Given the description of an element on the screen output the (x, y) to click on. 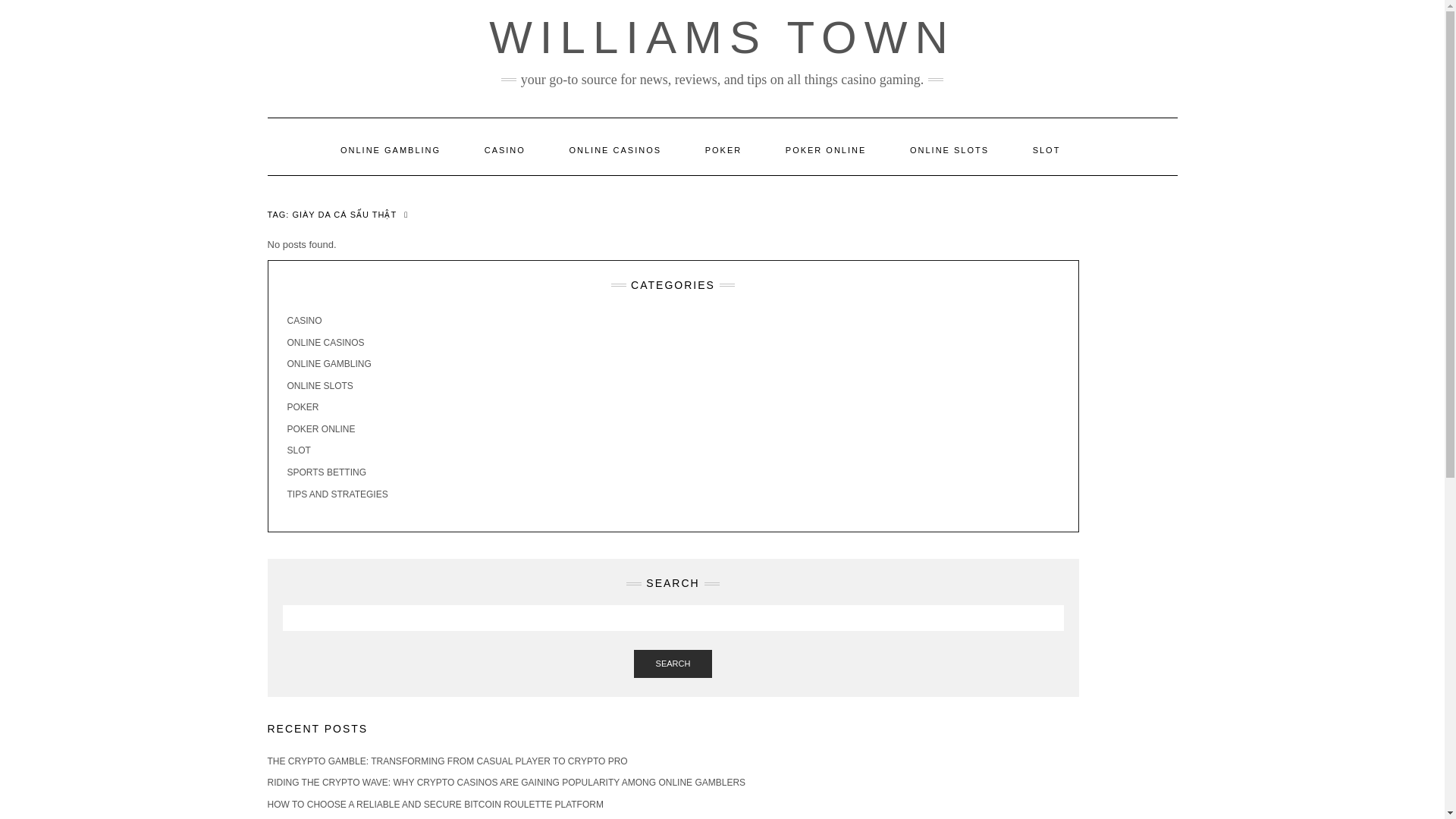
ONLINE CASINOS (615, 150)
POKER (723, 150)
ONLINE CASINOS (325, 342)
POKER (302, 407)
SLOT (298, 450)
POKER ONLINE (825, 150)
ONLINE GAMBLING (328, 363)
SPORTS BETTING (325, 471)
SEARCH (673, 663)
ONLINE SLOTS (949, 150)
CASINO (505, 150)
ONLINE SLOTS (319, 385)
SLOT (1046, 150)
